Given the description of an element on the screen output the (x, y) to click on. 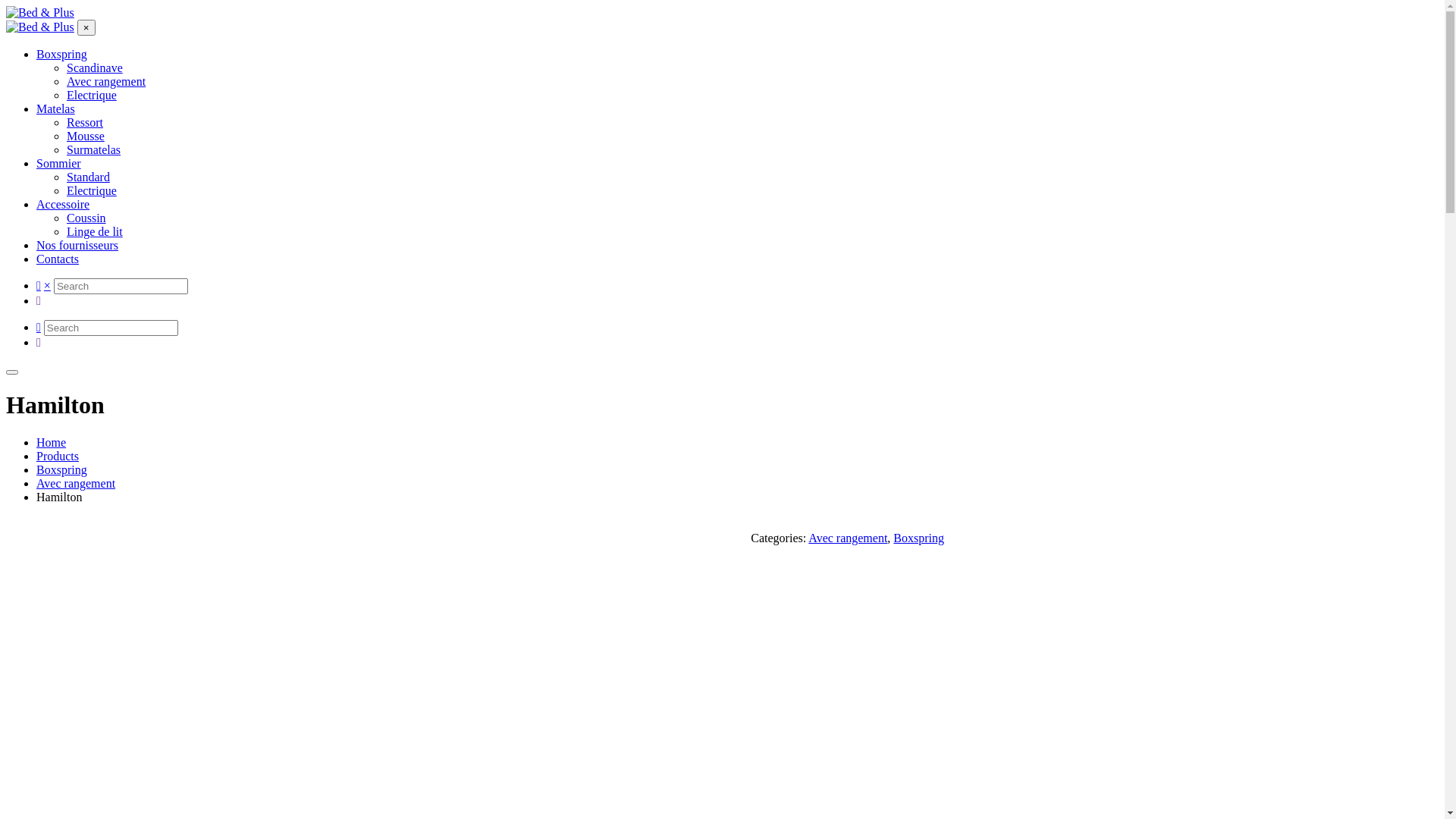
Scandinave Element type: text (94, 67)
Nos fournisseurs Element type: text (77, 244)
Standard Element type: text (87, 176)
Mousse Element type: text (85, 135)
Boxspring Element type: text (918, 537)
Home Element type: text (50, 442)
Electrique Element type: text (91, 190)
Ressort Element type: text (84, 122)
Sommier Element type: text (58, 162)
Avec rangement Element type: text (105, 81)
Electrique Element type: text (91, 94)
Avec rangement Element type: text (847, 537)
Contacts Element type: text (57, 258)
Surmatelas Element type: text (93, 149)
Products Element type: text (57, 455)
Boxspring Element type: text (61, 469)
Accessoire Element type: text (62, 203)
Matelas Element type: text (55, 108)
Coussin Element type: text (86, 217)
Avec rangement Element type: text (75, 482)
Boxspring Element type: text (61, 53)
Linge de lit Element type: text (94, 231)
